Given the description of an element on the screen output the (x, y) to click on. 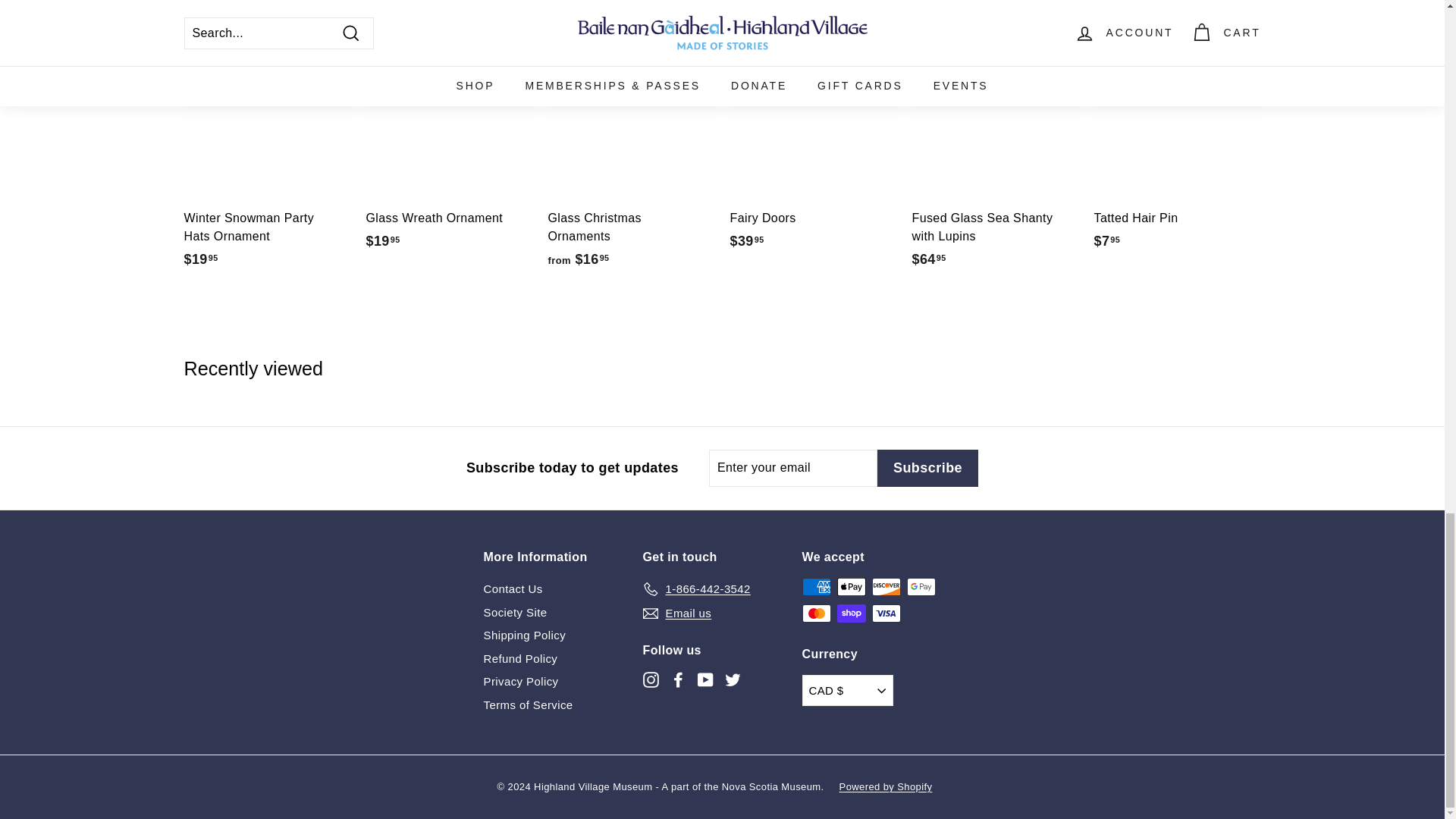
Discover (886, 587)
Highland Village Museum on YouTube (705, 679)
Highland Village Museum on Twitter (733, 679)
Apple Pay (851, 587)
Highland Village Museum on Instagram (651, 679)
American Express (816, 587)
Google Pay (921, 587)
Highland Village Museum on Facebook (677, 679)
